Given the description of an element on the screen output the (x, y) to click on. 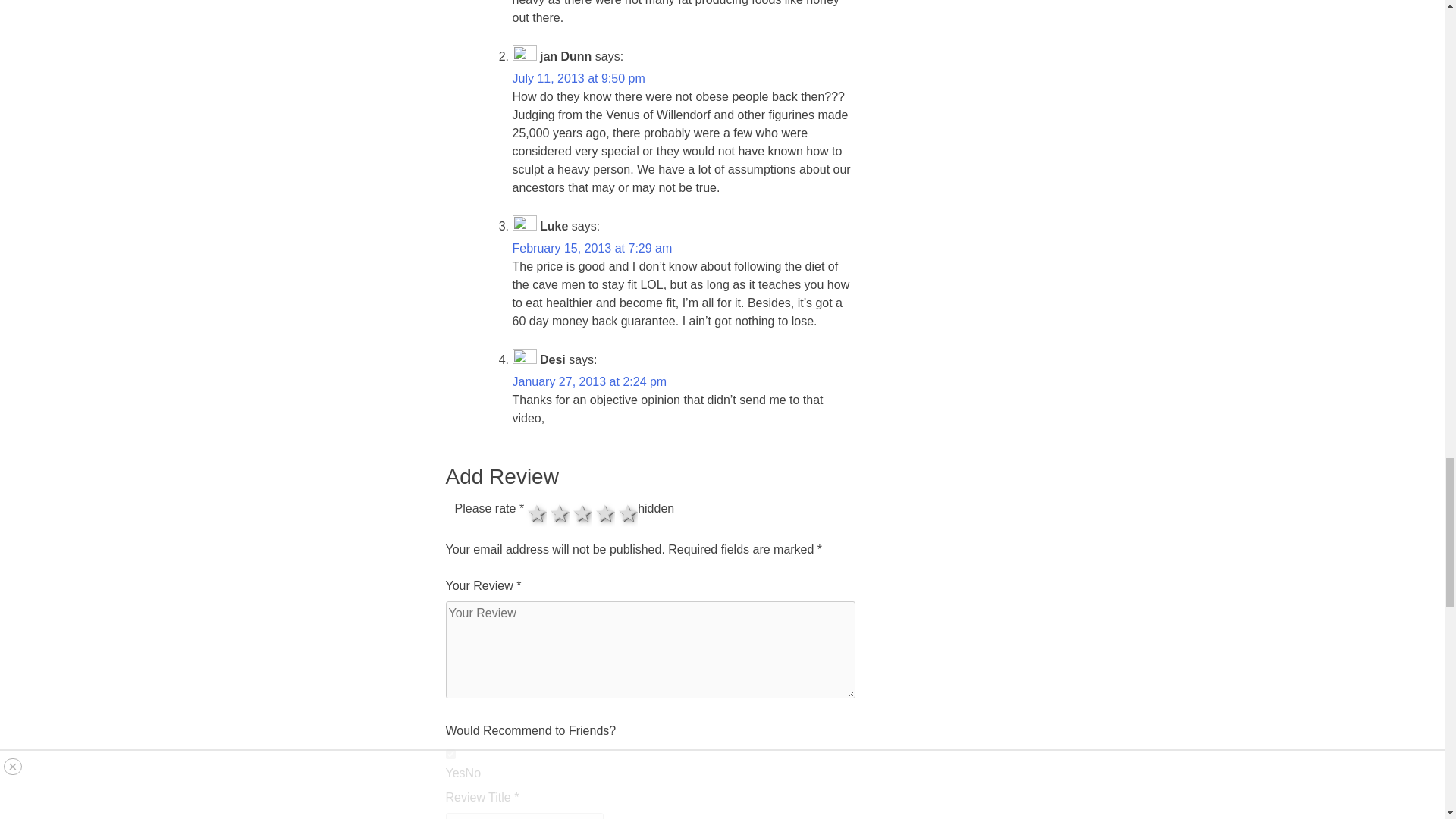
July 11, 2013 at 9:50 pm (578, 78)
3 (529, 504)
4 (529, 504)
2 (529, 504)
January 27, 2013 at 2:24 pm (589, 381)
5 (529, 504)
February 15, 2013 at 7:29 am (592, 247)
1 (529, 504)
1 (450, 754)
